Given the description of an element on the screen output the (x, y) to click on. 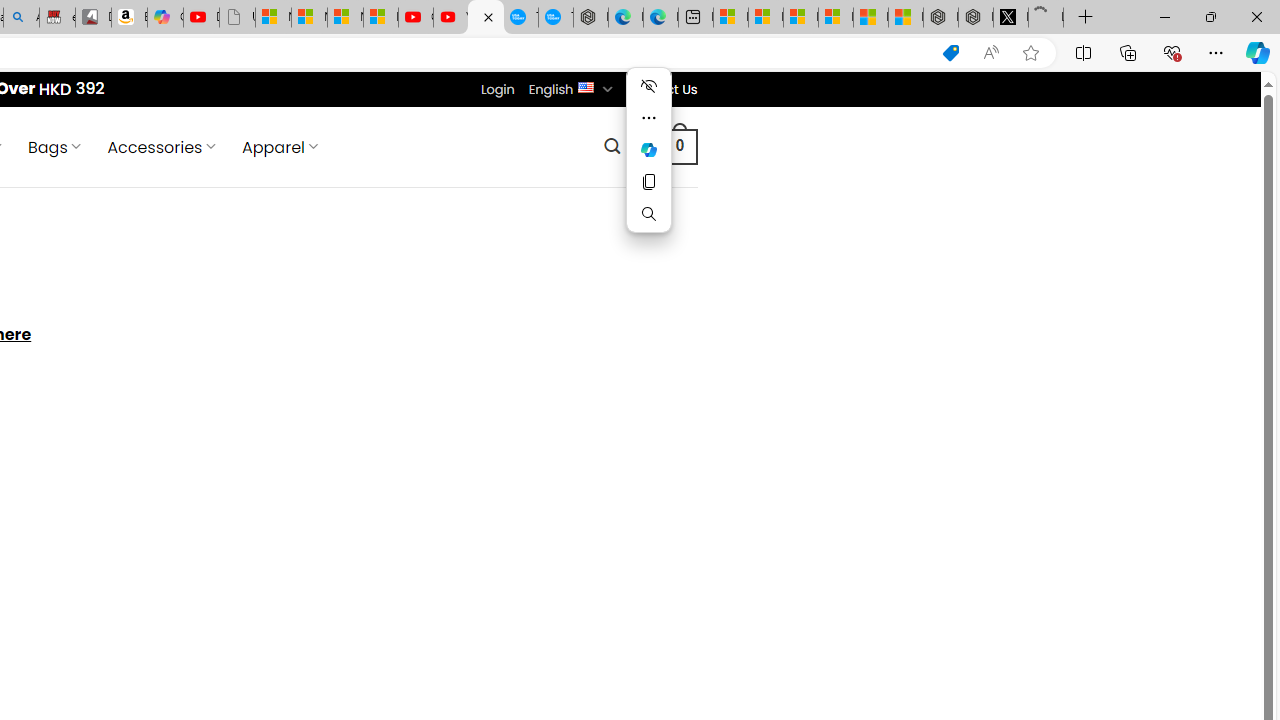
More actions (648, 117)
  0   (679, 146)
Nordace (@NordaceOfficial) / X (1010, 17)
Copy (648, 182)
